Given the description of an element on the screen output the (x, y) to click on. 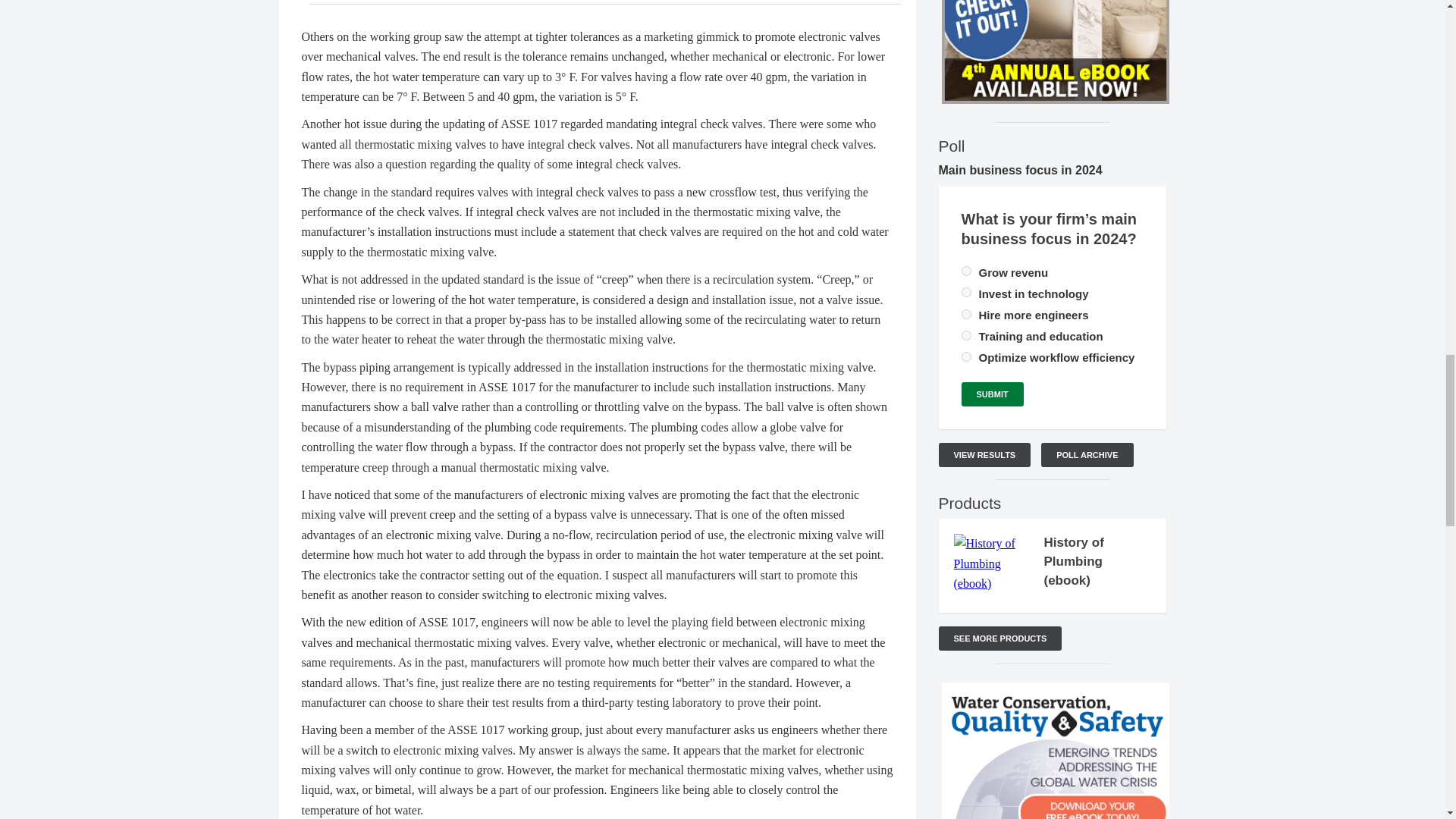
326 (965, 314)
327 (965, 356)
328 (965, 335)
324 (965, 271)
325 (965, 292)
Submit (991, 394)
